Given the description of an element on the screen output the (x, y) to click on. 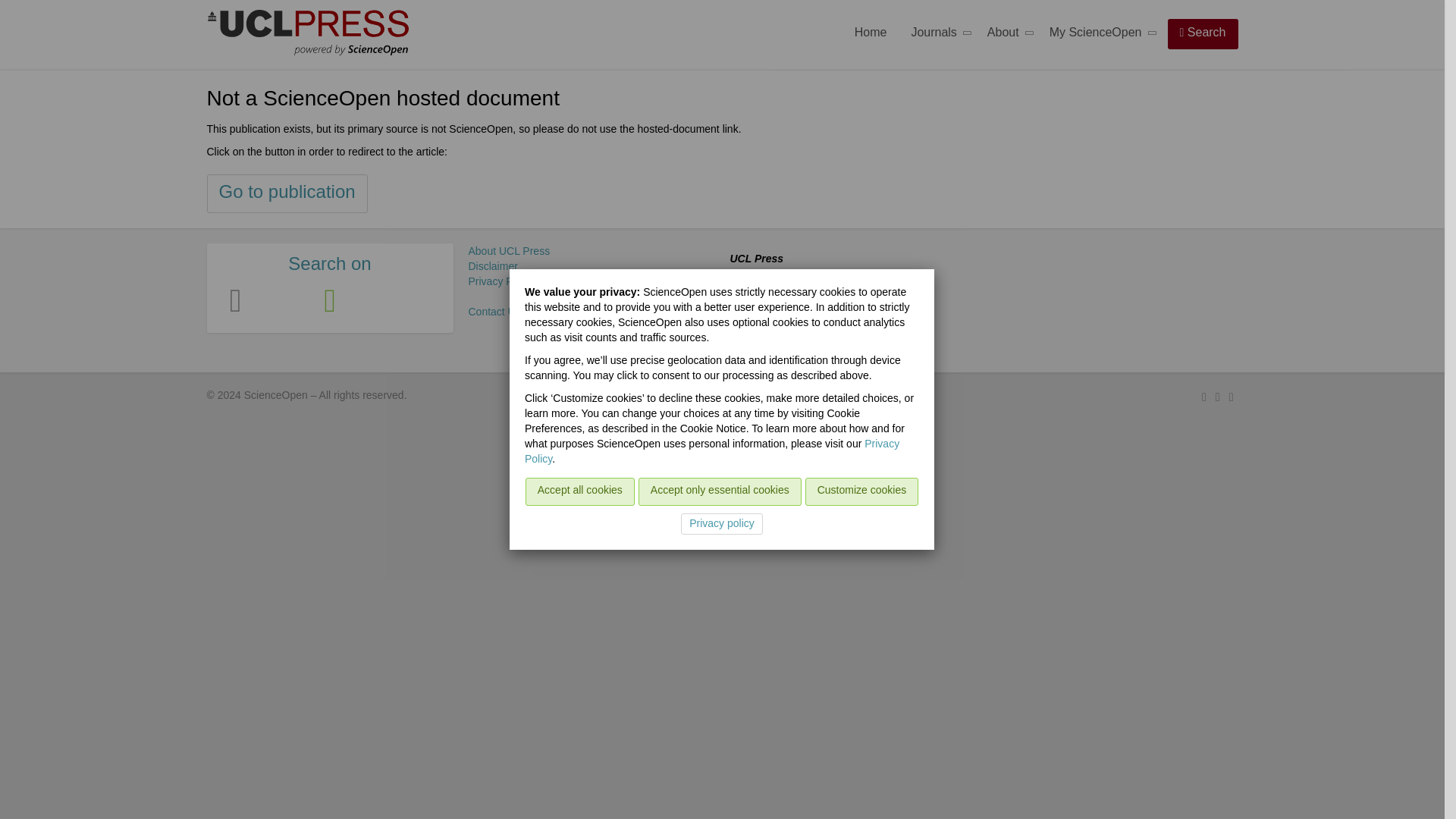
Journals (936, 34)
My ScienceOpen (1098, 34)
About (1005, 34)
Search (1203, 33)
